Given the description of an element on the screen output the (x, y) to click on. 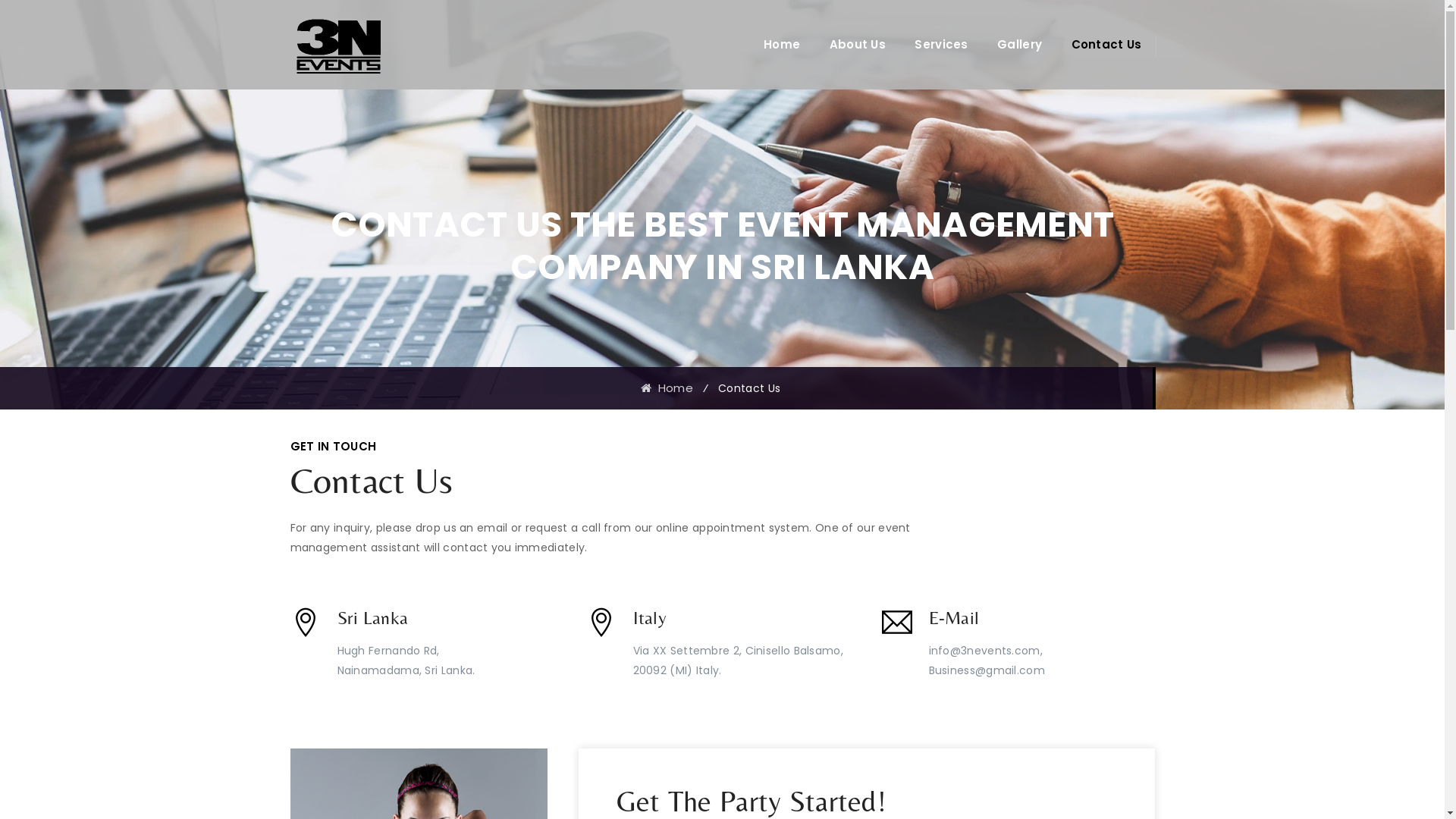
Contact Us Element type: text (1105, 44)
  Home Element type: text (666, 387)
Gallery Element type: text (1019, 44)
3N Events Element type: hover (336, 43)
About Us Element type: text (857, 44)
Home Element type: text (781, 44)
Services Element type: text (940, 44)
